Given the description of an element on the screen output the (x, y) to click on. 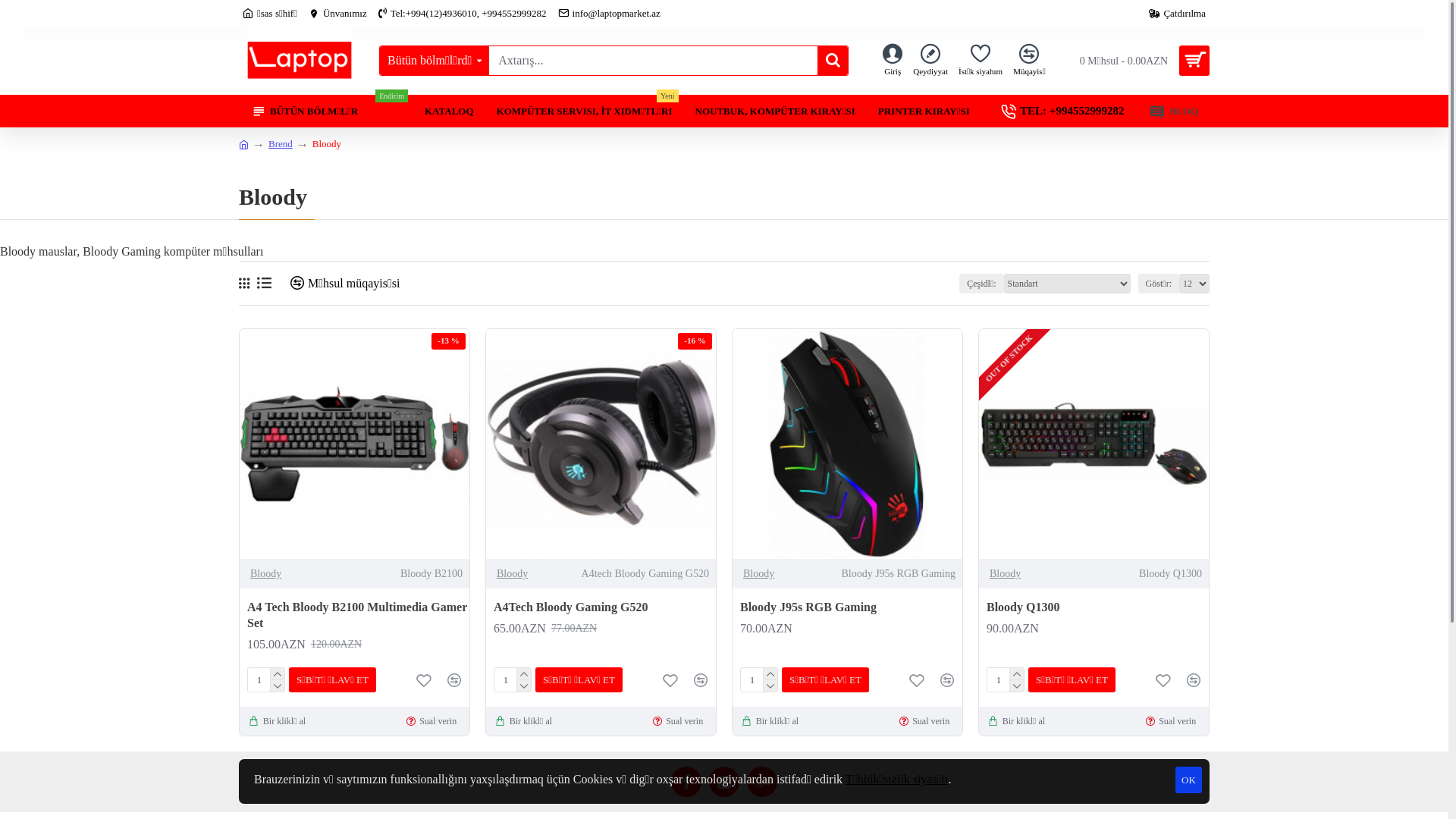
LaptopMarket Element type: hover (299, 60)
Sual verin Element type: text (433, 720)
Bloody Element type: text (758, 573)
Sual verin Element type: text (1172, 720)
OK Element type: text (1188, 779)
Bloody J95s RGB Gaming Element type: text (808, 607)
Bloody Q1300  Element type: hover (1093, 443)
Brend Element type: text (280, 143)
Bloody Element type: text (265, 573)
Bloody Q1300 Element type: text (1022, 607)
A4 Tech Bloody B2100 Multimedia Gamer Set Element type: text (358, 615)
Bloody Element type: text (326, 143)
Bloody Element type: text (1004, 573)
KATALOQ Element type: text (449, 110)
Tel:+994(12)4936010, +994552999282 Element type: text (462, 13)
info@laptopmarket.az Element type: text (609, 13)
Qeydiyyat Element type: text (930, 60)
Sual verin Element type: text (679, 720)
A4Tech Bloody Gaming G520 Element type: hover (600, 443)
Sual verin Element type: text (926, 720)
Bloody J95s RGB Gaming Element type: hover (847, 443)
A4 Tech Bloody B2100 Multimedia Gamer Set Element type: hover (354, 443)
TEL: +994552999282 Element type: text (1064, 110)
BLOQ Element type: text (1174, 110)
A4Tech Bloody Gaming G520 Element type: text (570, 607)
Bloody Element type: text (511, 573)
